Given the description of an element on the screen output the (x, y) to click on. 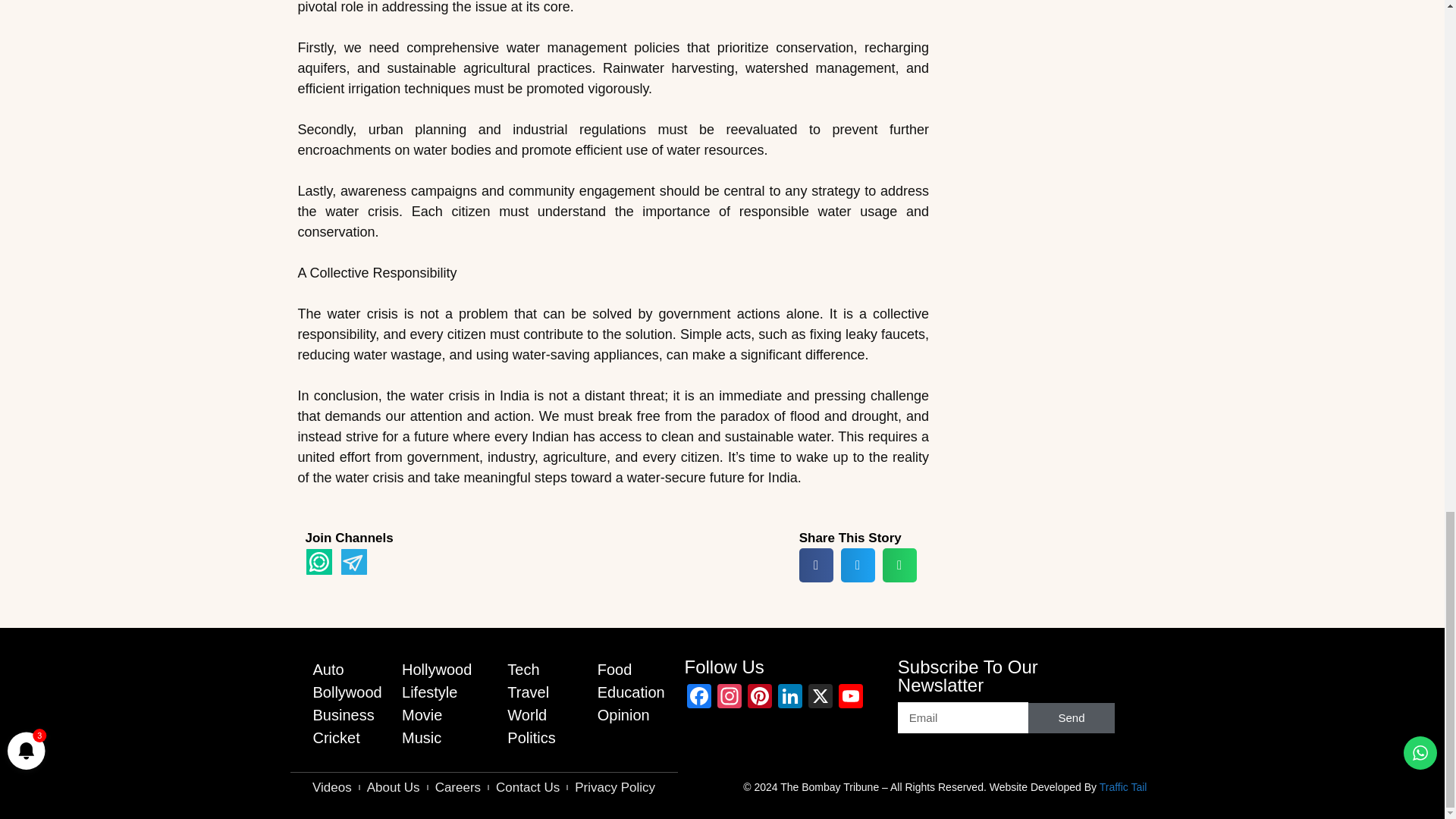
Pinterest (759, 697)
Facebook (699, 697)
Instagram (729, 697)
